Given the description of an element on the screen output the (x, y) to click on. 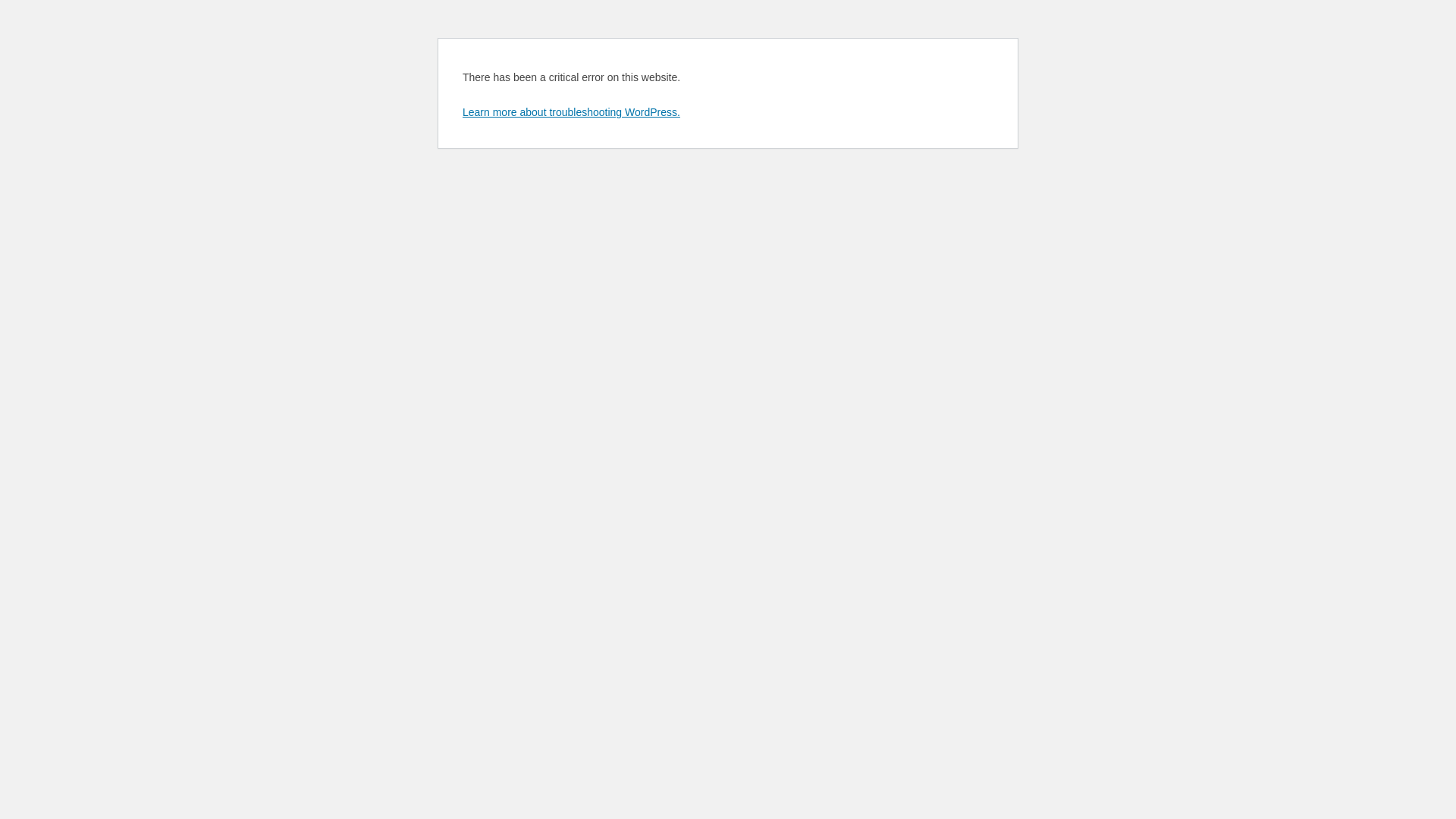
Learn more about troubleshooting WordPress. Element type: text (571, 112)
